Given the description of an element on the screen output the (x, y) to click on. 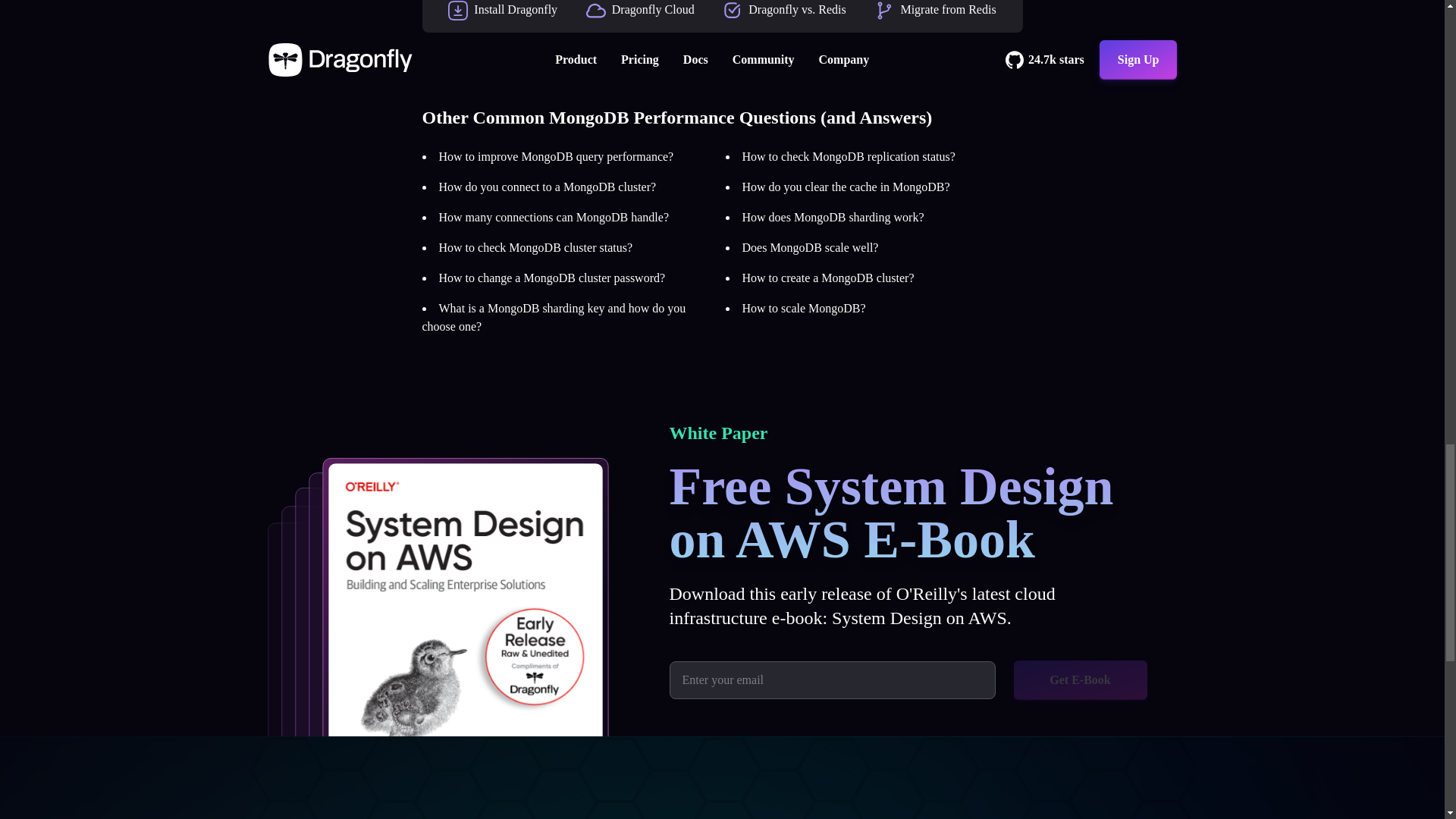
Dragonfly vs. Redis (796, 9)
How many connections can MongoDB handle? (553, 216)
How to check MongoDB cluster status? (534, 246)
How to improve MongoDB query performance? (555, 155)
How to check MongoDB replication status? (848, 155)
Install Dragonfly (515, 9)
How does MongoDB sharding work? (832, 216)
How do you clear the cache in MongoDB? (845, 186)
Does MongoDB scale well? (809, 246)
Dragonfly Cloud (652, 9)
How do you connect to a MongoDB cluster? (547, 186)
Migrate from Redis (947, 9)
